Given the description of an element on the screen output the (x, y) to click on. 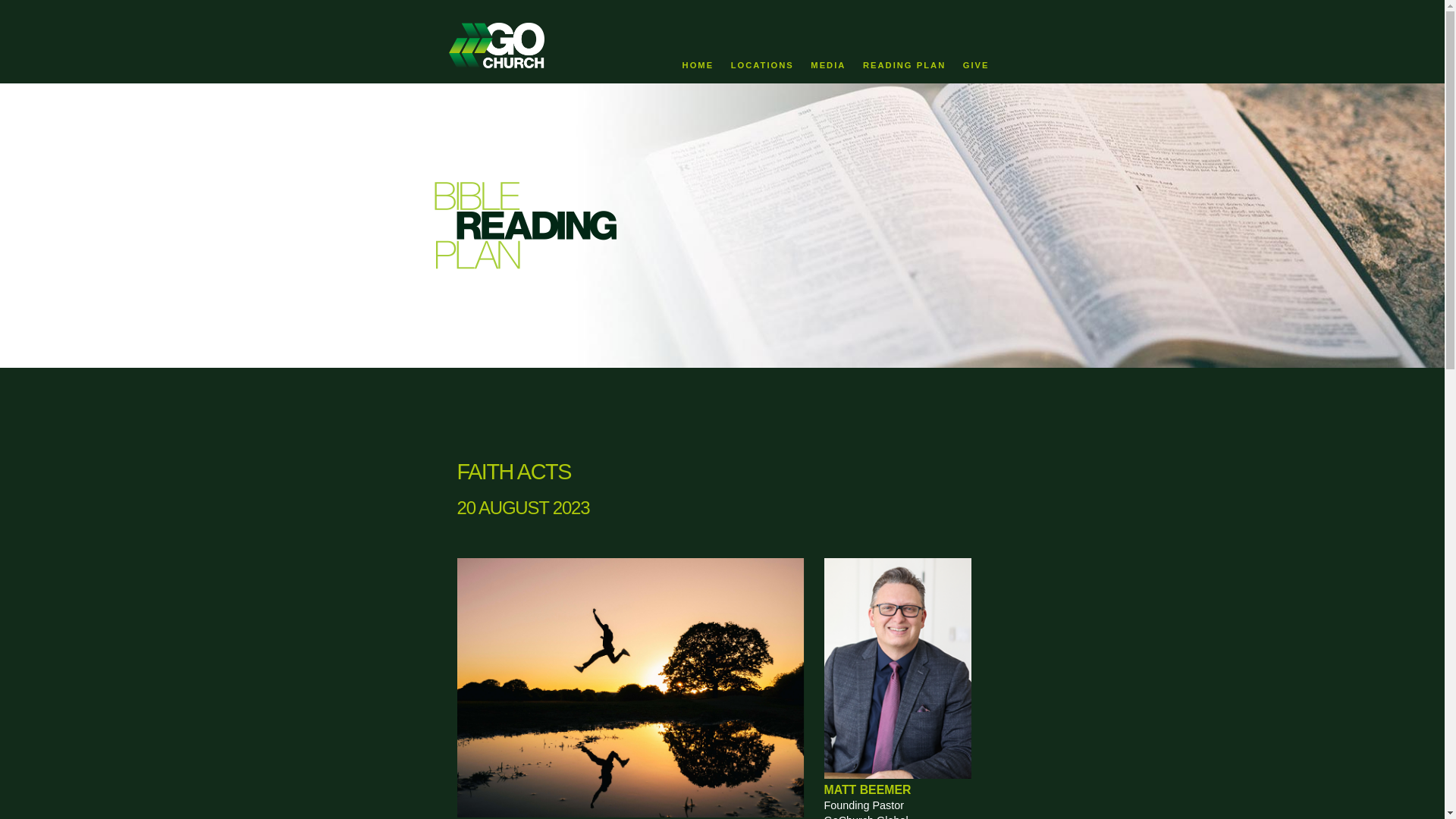
LOCATIONS (761, 65)
MEDIA (827, 65)
GIVE (976, 65)
GoChurch logo (545, 44)
HOME (698, 65)
READING PLAN (903, 65)
